Given the description of an element on the screen output the (x, y) to click on. 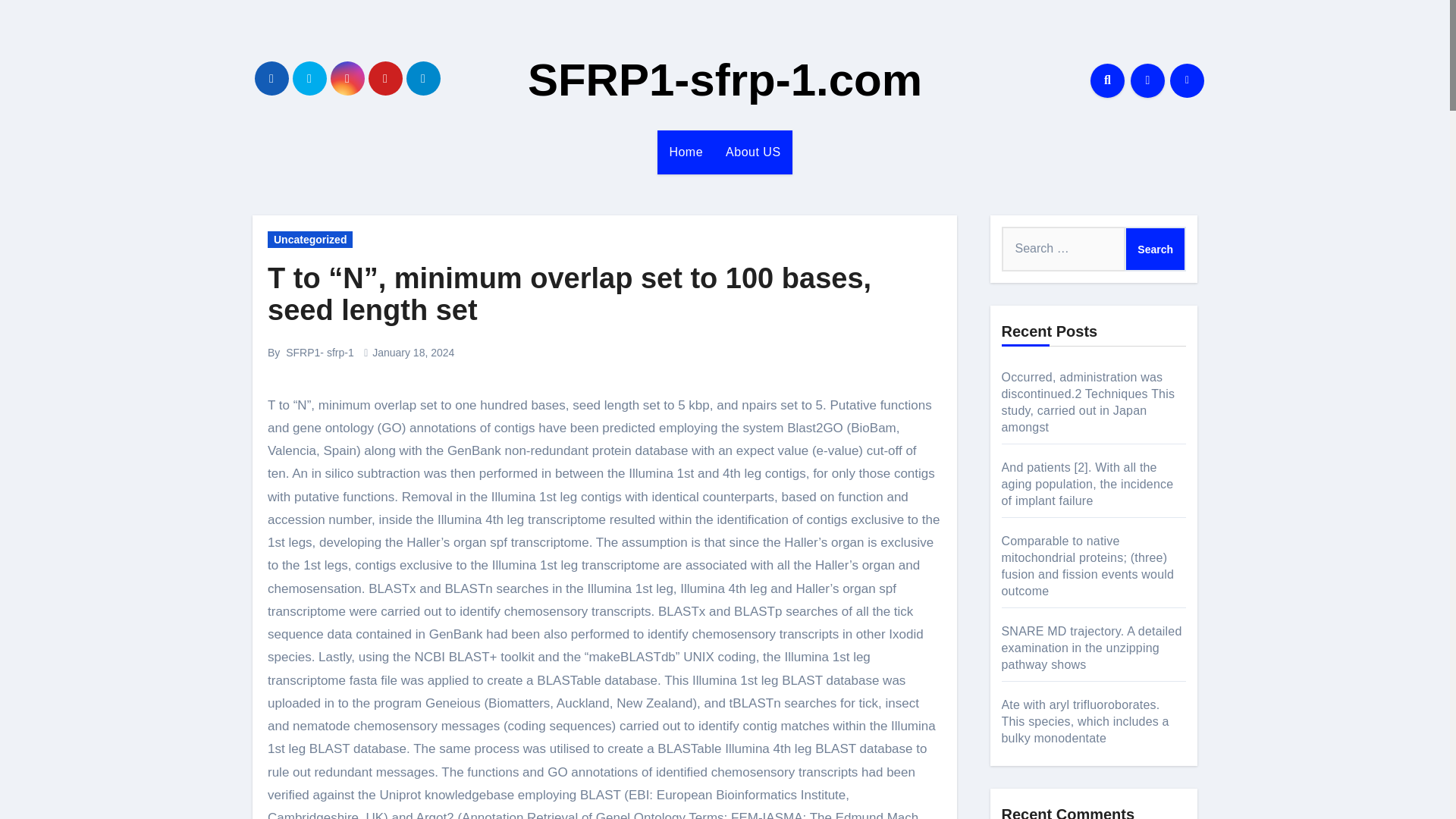
About US (753, 152)
SFRP1-sfrp-1.com (724, 79)
Home (686, 152)
January 18, 2024 (413, 352)
Search (1155, 248)
Search (1155, 248)
Uncategorized (309, 239)
SFRP1- sfrp-1 (319, 352)
About US (753, 152)
Home (686, 152)
